Given the description of an element on the screen output the (x, y) to click on. 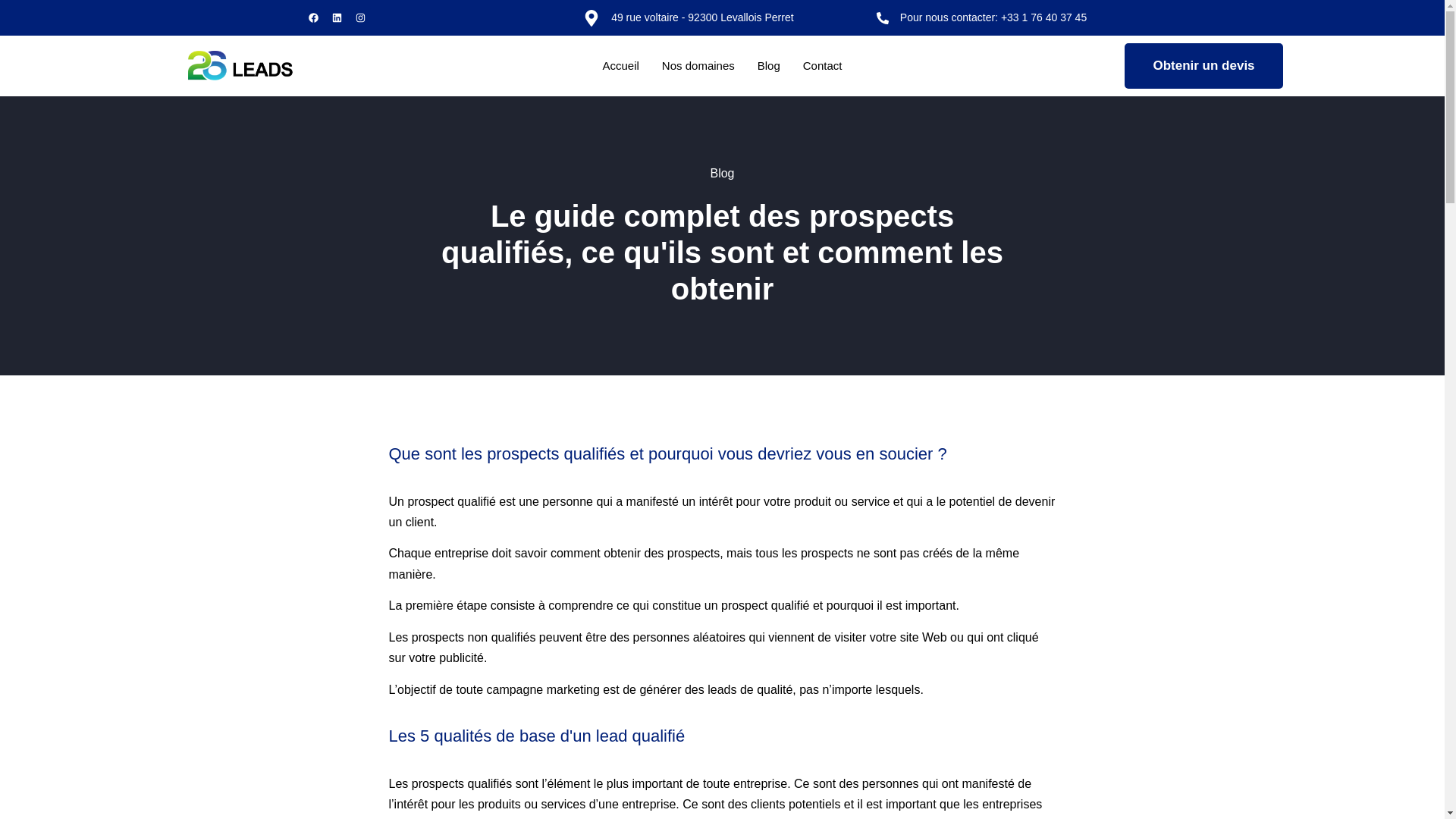
Blog Element type: text (768, 65)
Nos domaines Element type: text (698, 65)
Obtenir un devis Element type: text (1203, 65)
Contact Element type: text (822, 65)
Accueil Element type: text (620, 65)
